Given the description of an element on the screen output the (x, y) to click on. 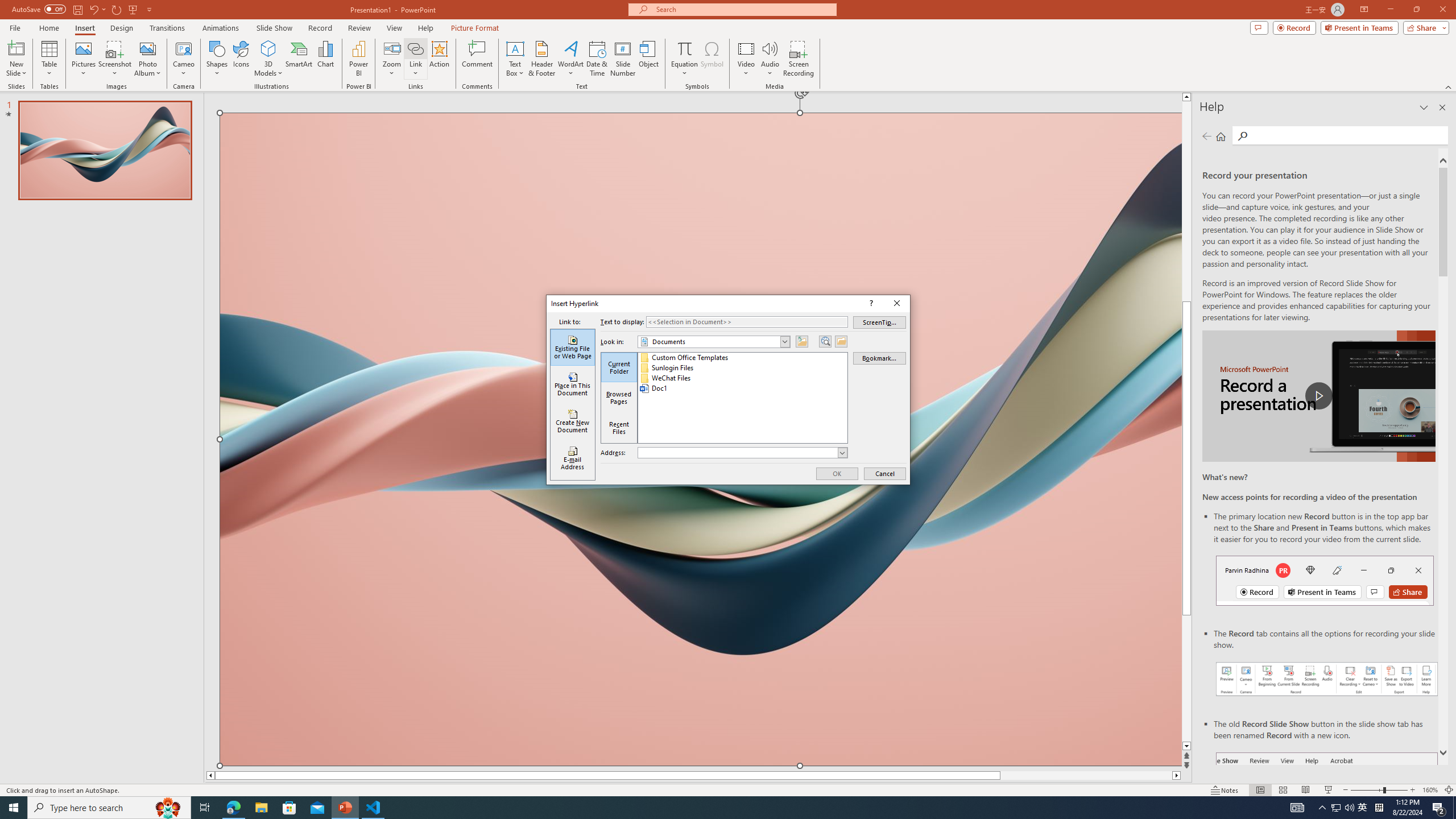
SmartArt... (298, 58)
Look in: (713, 341)
Browsed Pages (619, 397)
